Given the description of an element on the screen output the (x, y) to click on. 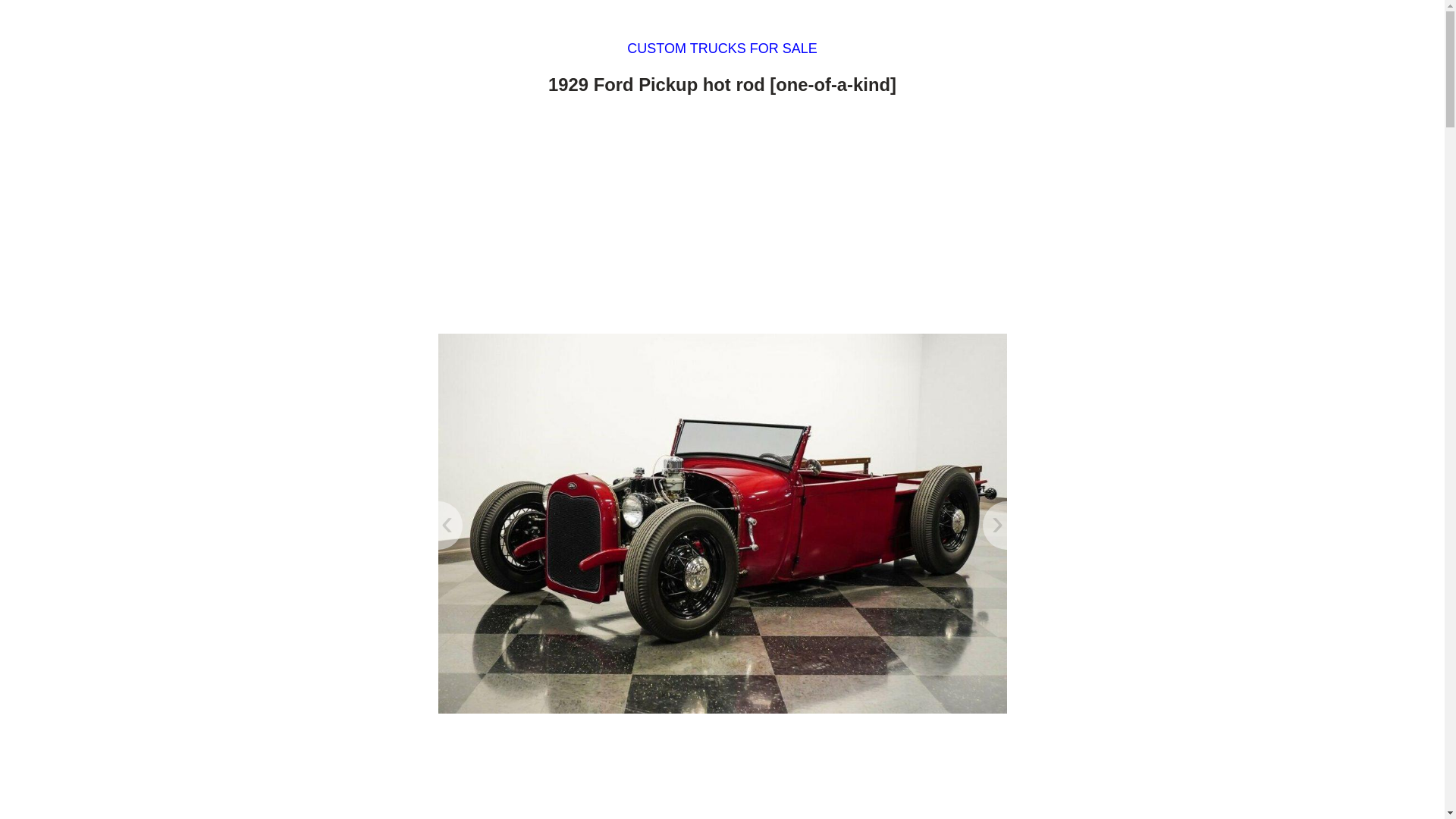
Advertisement (722, 771)
CUSTOM TRUCKS FOR SALE (721, 48)
Advertisement (722, 218)
